Given the description of an element on the screen output the (x, y) to click on. 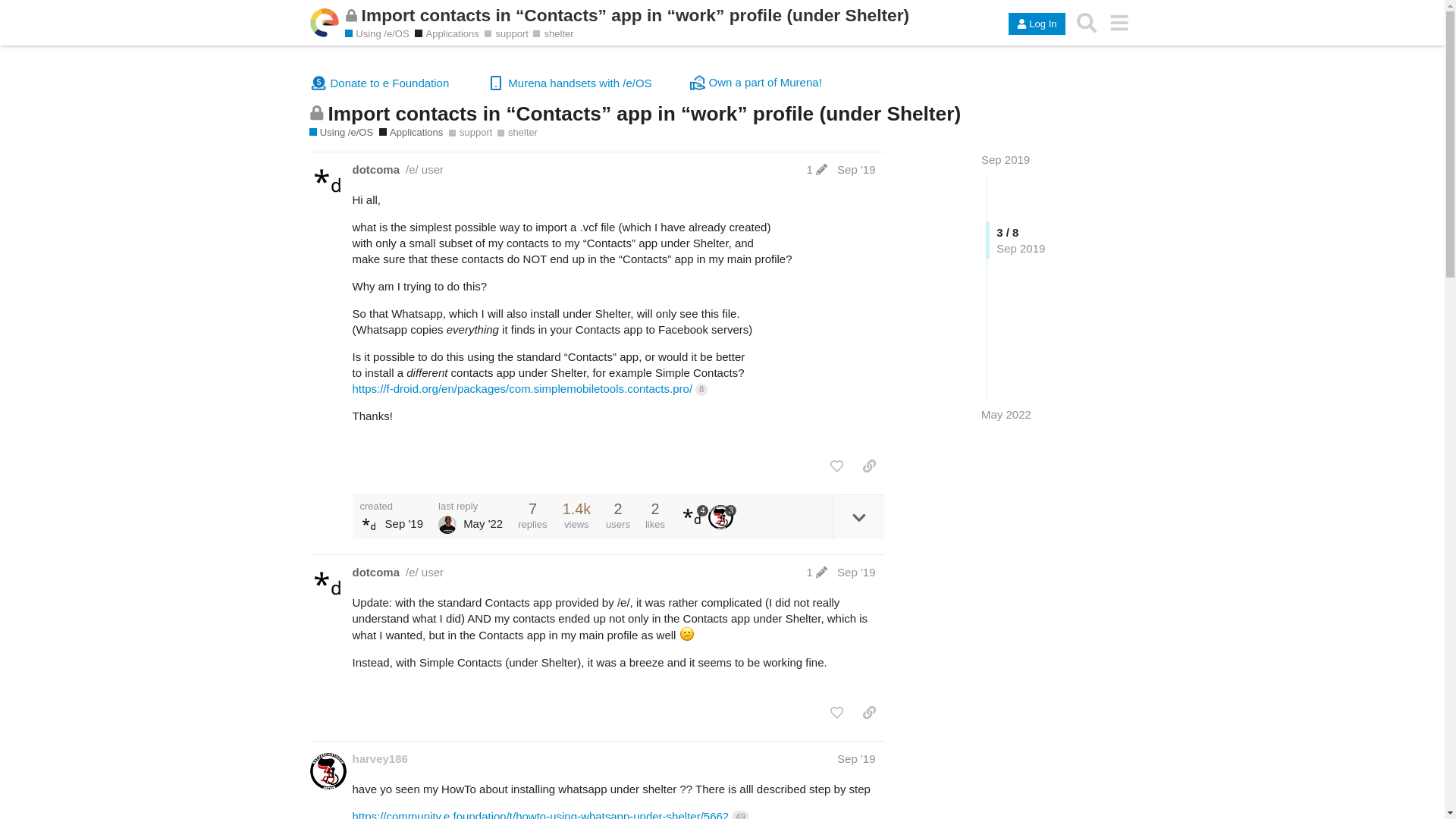
shelter (517, 132)
1 (816, 169)
Sep '19 (856, 169)
This topic is closed; it no longer accepts new replies (351, 15)
support (506, 33)
support (470, 132)
Log In (1036, 24)
4 (693, 517)
3 (721, 517)
dotcoma (375, 169)
dotcoma (375, 571)
post last edited on Sep 2, 2019 10:31 pm (816, 169)
copy a link to this post to clipboard (869, 466)
1 (816, 571)
May 3, 2022 8:52 pm (1005, 413)
